Given the description of an element on the screen output the (x, y) to click on. 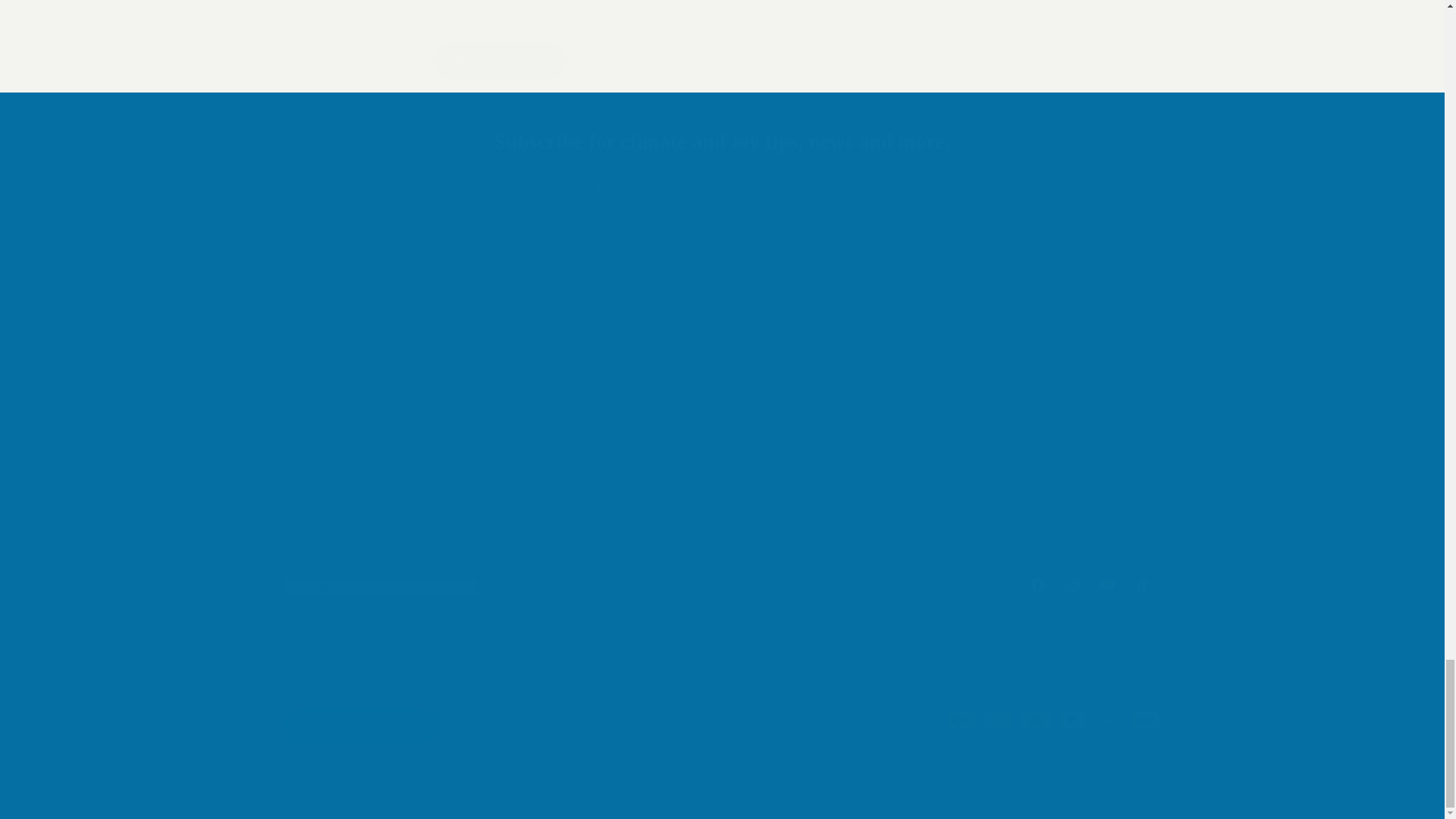
Email (722, 189)
Post comment (499, 60)
Subscribe for climate and toy tips, news and more. (721, 584)
